Given the description of an element on the screen output the (x, y) to click on. 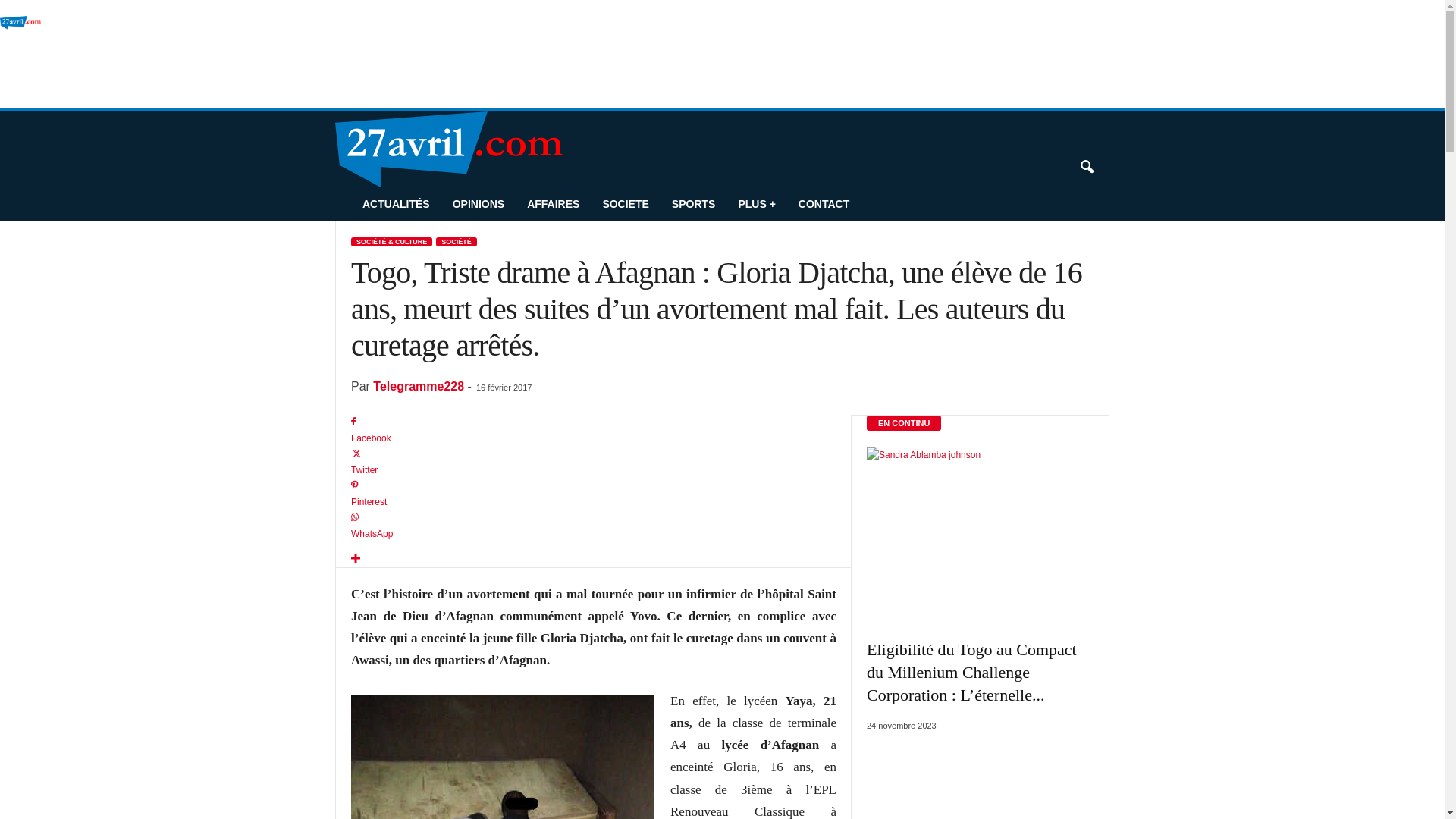
Twitter Element type: text (593, 462)
PLUS + Element type: text (756, 203)
Facebook Element type: text (593, 430)
SPORTS Element type: text (693, 203)
Telegramme228 Element type: text (418, 385)
27avril.com Element type: text (103, 58)
Pinterest Element type: text (593, 494)
OPINIONS Element type: text (478, 203)
SOCIETE Element type: text (624, 203)
CONTACT Element type: text (823, 203)
AFFAIRES Element type: text (552, 203)
More Element type: hover (593, 559)
WhatsApp Element type: text (593, 526)
